Given the description of an element on the screen output the (x, y) to click on. 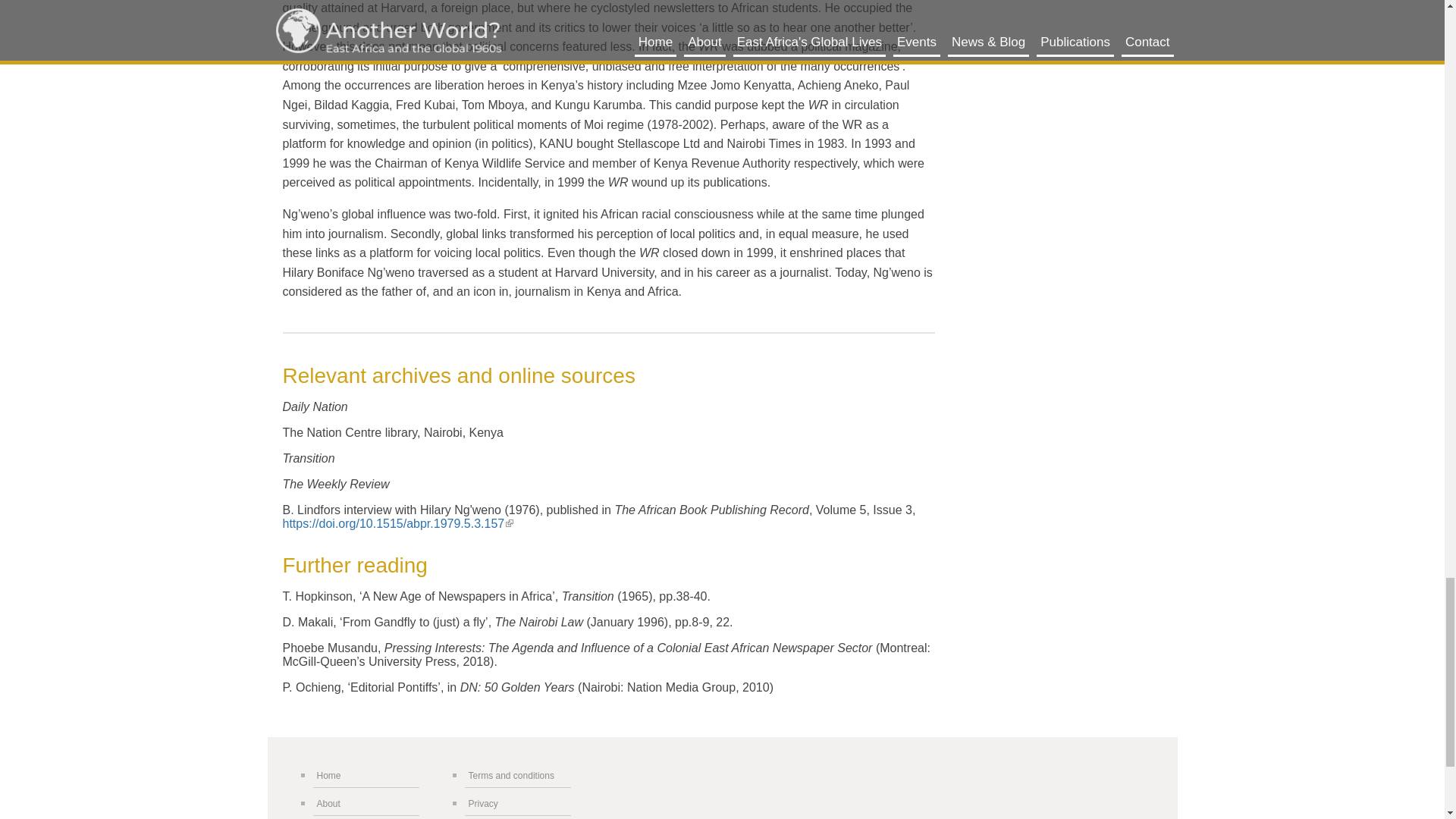
Privacy (517, 803)
Privacy (517, 803)
Terms and conditions (517, 775)
About (366, 803)
Home (366, 775)
Terms and conditions (517, 775)
About the project (366, 803)
